Given the description of an element on the screen output the (x, y) to click on. 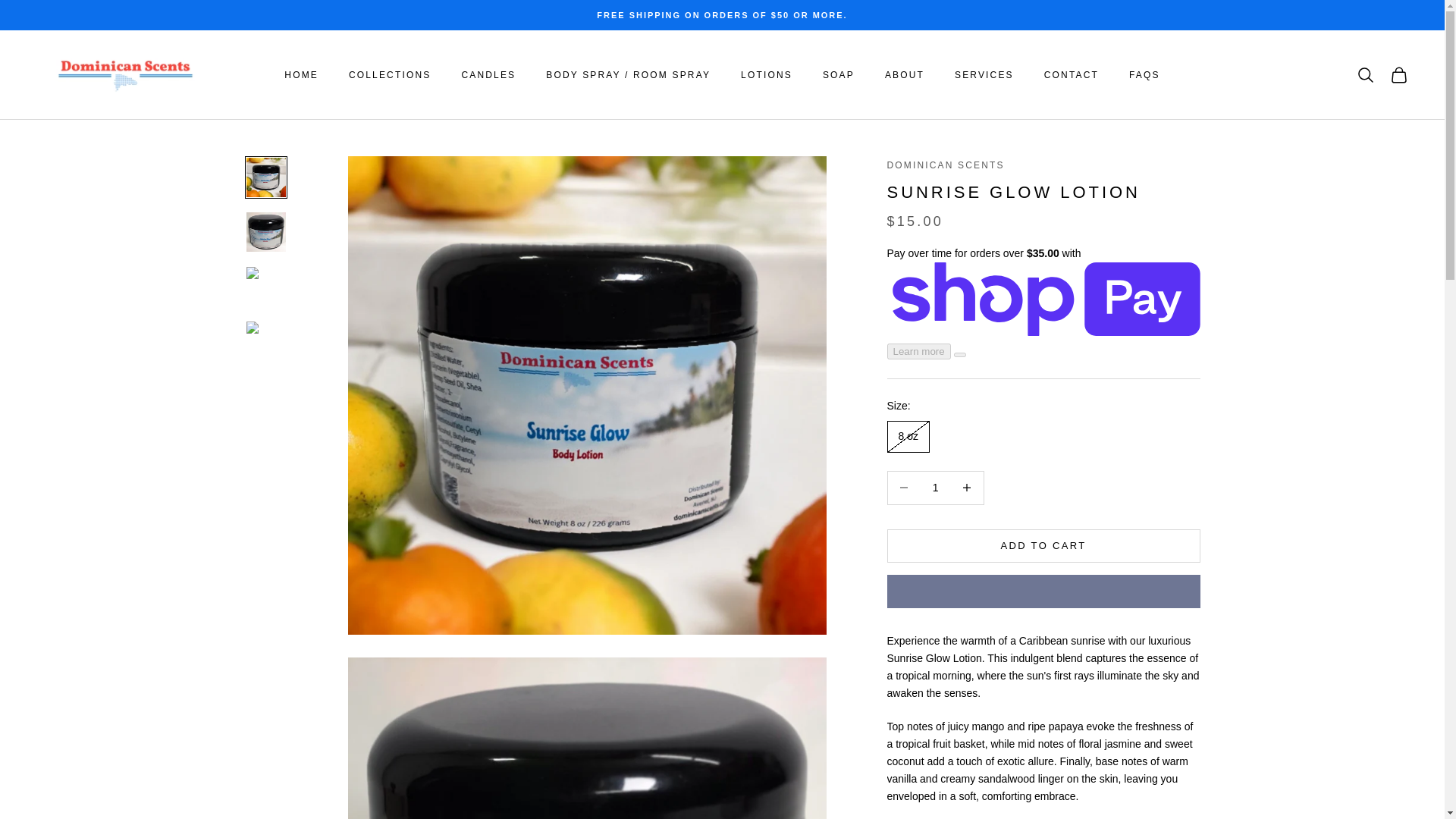
Open cart (1398, 75)
LOTIONS (766, 74)
ABOUT (904, 74)
Decrease quantity (903, 487)
FAQS (1144, 74)
Dominican Scents (125, 74)
SOAP (838, 74)
